Given the description of an element on the screen output the (x, y) to click on. 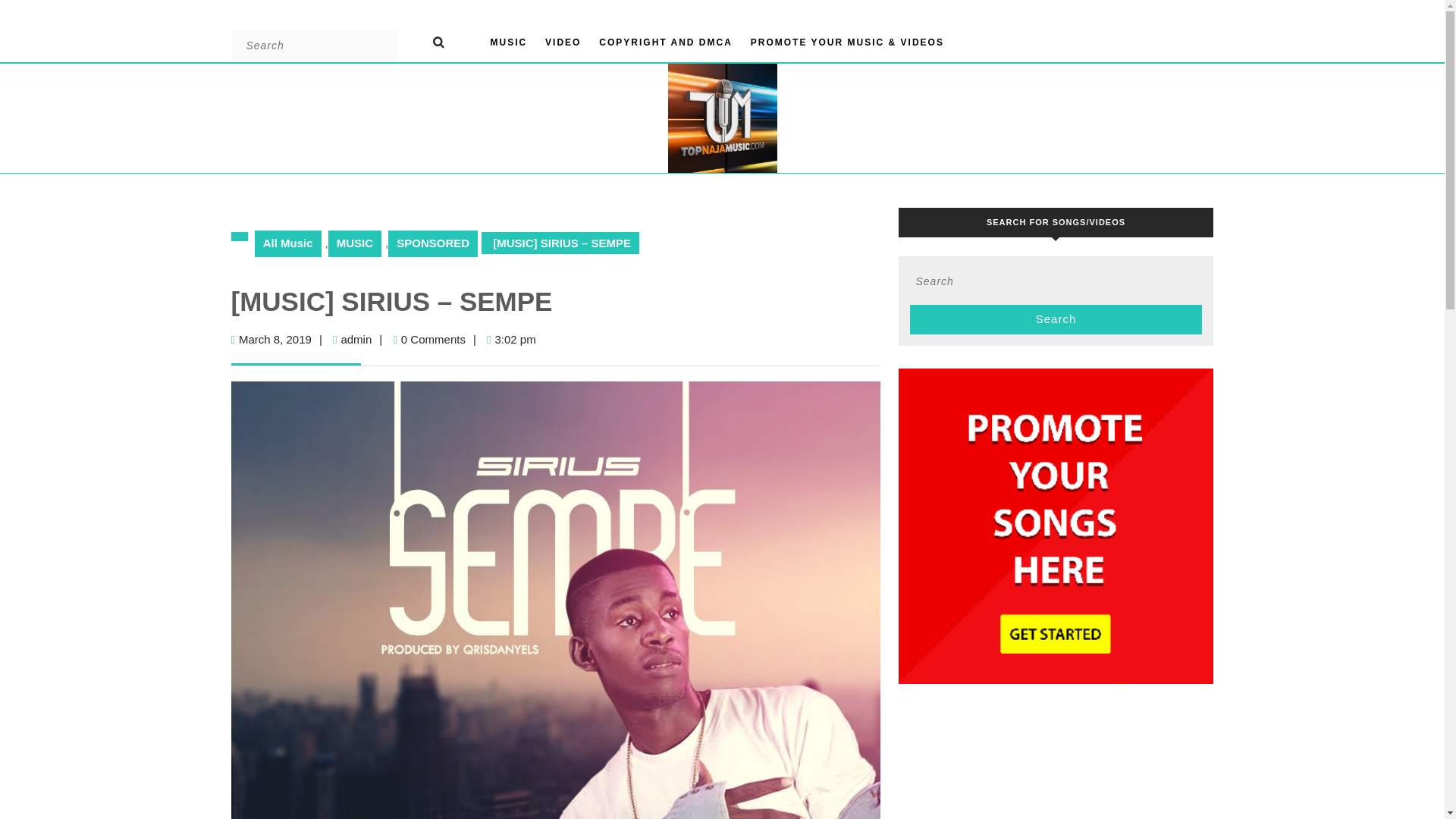
MUSIC (507, 42)
Search (447, 40)
SPONSORED (432, 243)
Search (1056, 319)
COPYRIGHT AND DMCA (355, 338)
All Music (665, 42)
VIDEO (287, 243)
Search (562, 42)
Search (1056, 319)
Search (447, 40)
Search (1056, 319)
MUSIC (447, 40)
